Given the description of an element on the screen output the (x, y) to click on. 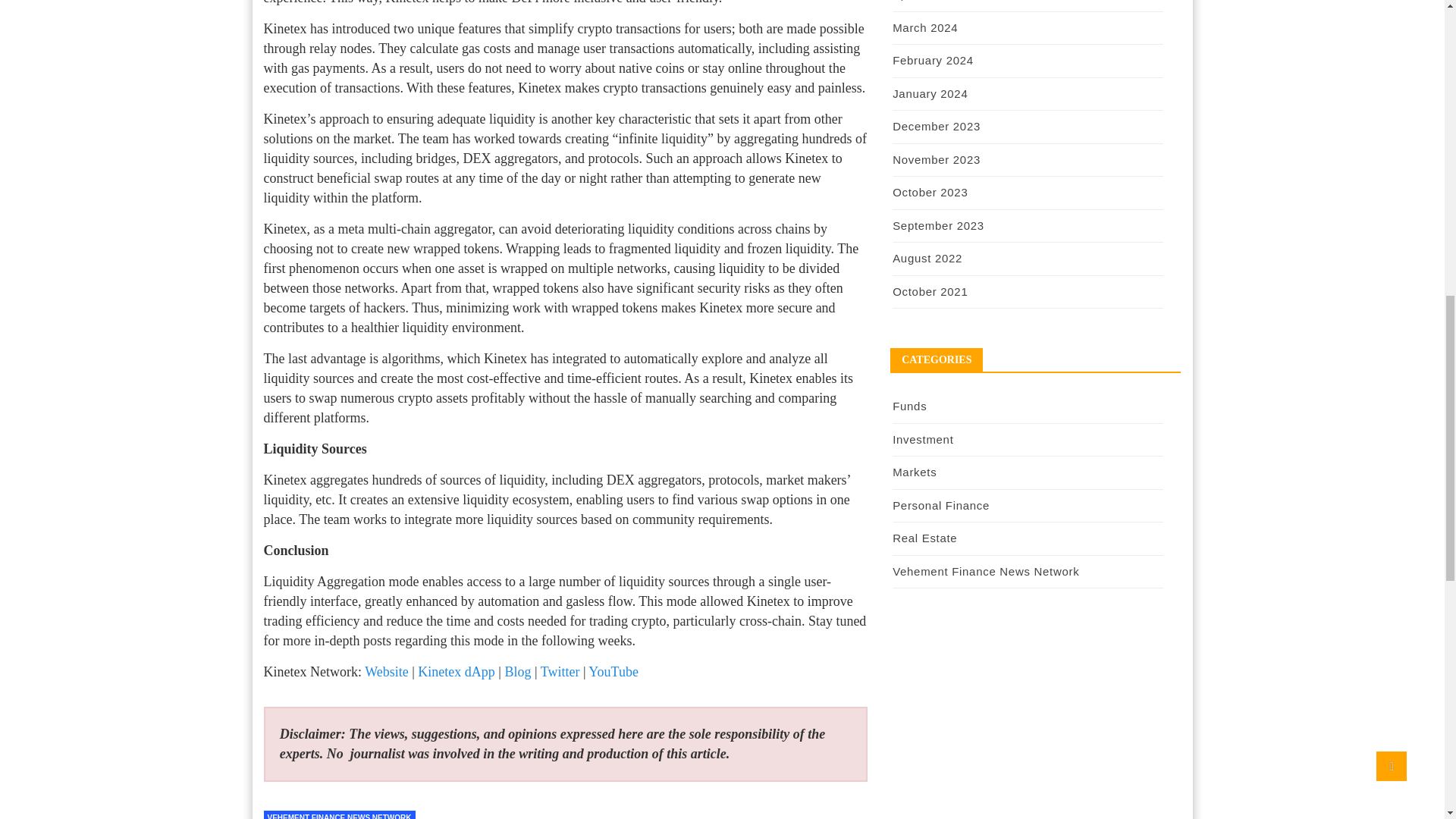
Website (387, 671)
Blog (517, 671)
Kinetex dApp (456, 671)
YouTube (613, 671)
Twitter (559, 671)
VEHEMENT FINANCE NEWS NETWORK (338, 814)
